Given the description of an element on the screen output the (x, y) to click on. 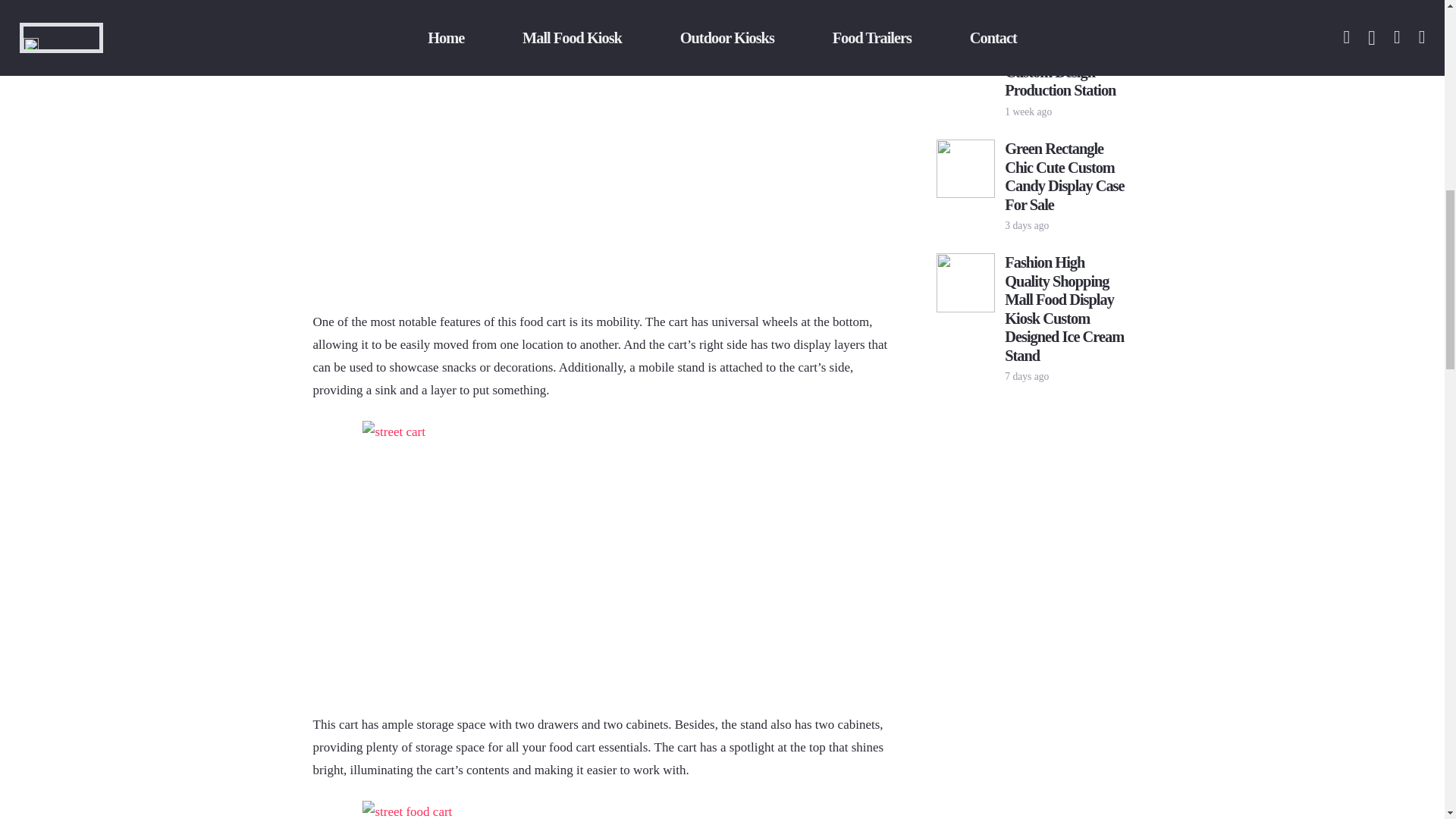
Back to top (1413, 26)
